Given the description of an element on the screen output the (x, y) to click on. 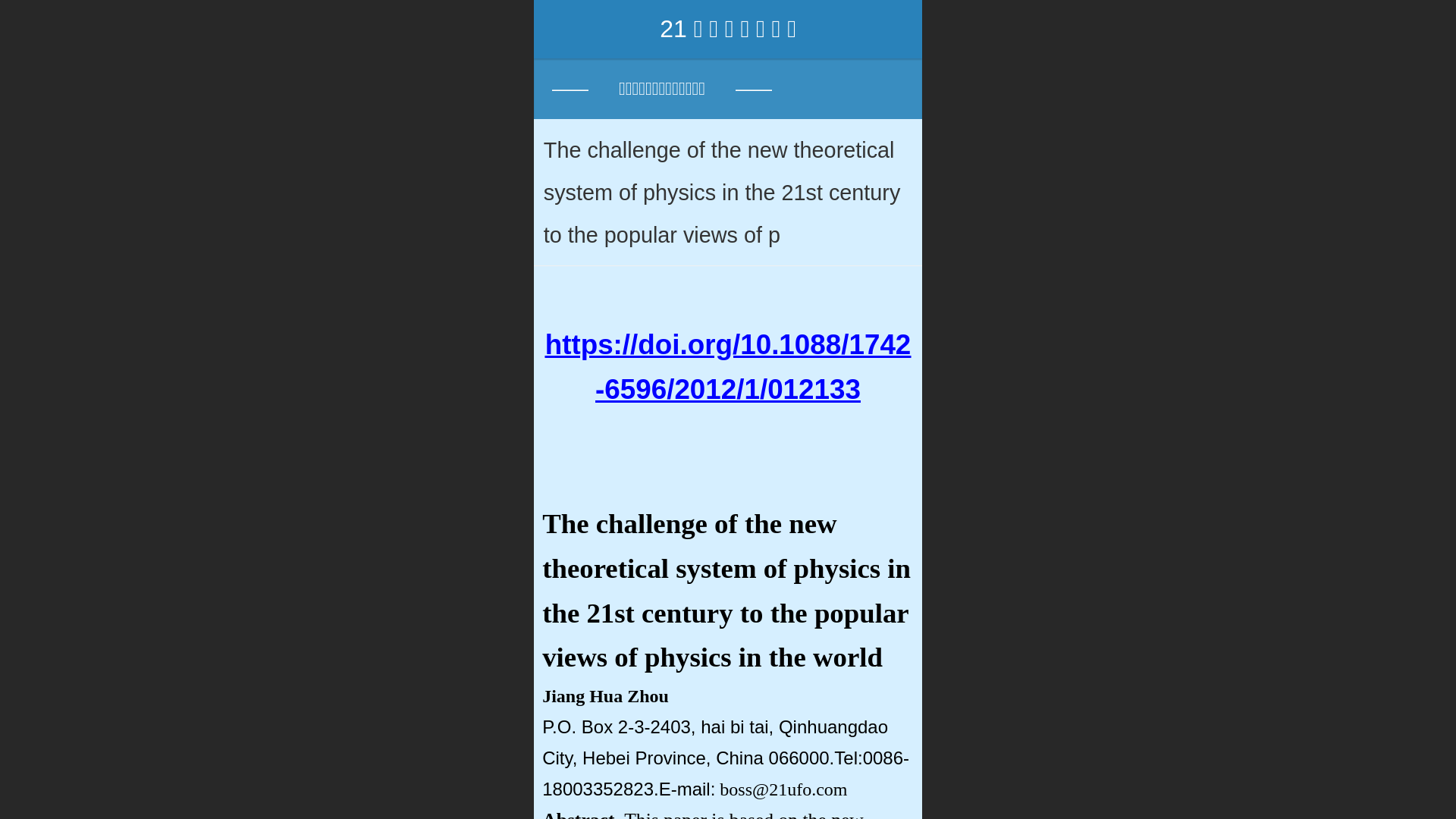
https://doi.org/10.1088/1742-6596/2012/1/012133 Element type: text (728, 366)
